Given the description of an element on the screen output the (x, y) to click on. 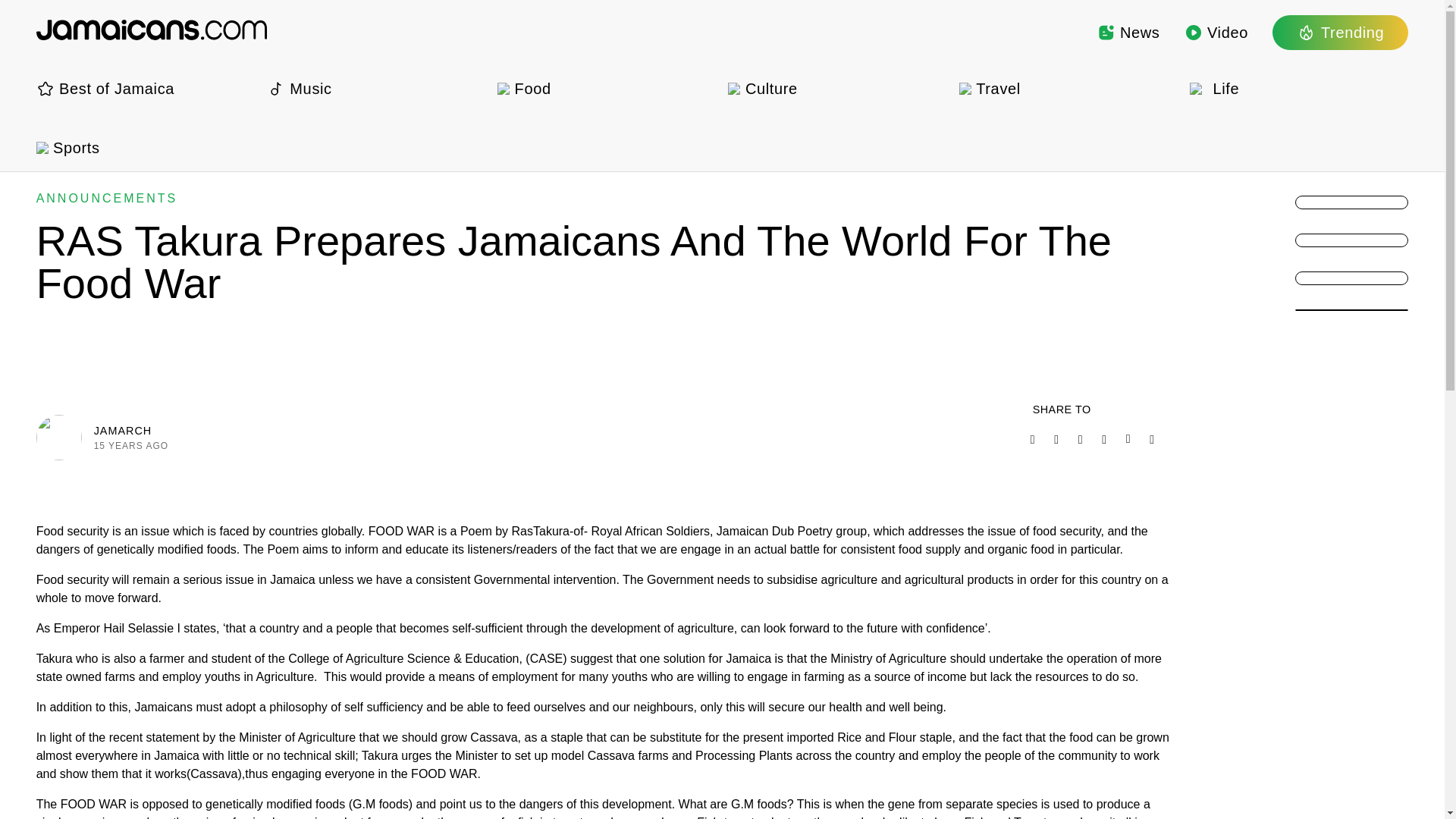
Travel (1068, 88)
ANNOUNCEMENTS (106, 197)
Sports (145, 147)
Culture (837, 88)
Trending (1339, 32)
Life (1298, 88)
Food (606, 88)
Best of Jamaica (145, 88)
Music (375, 88)
Video (1216, 32)
News (1128, 32)
